Given the description of an element on the screen output the (x, y) to click on. 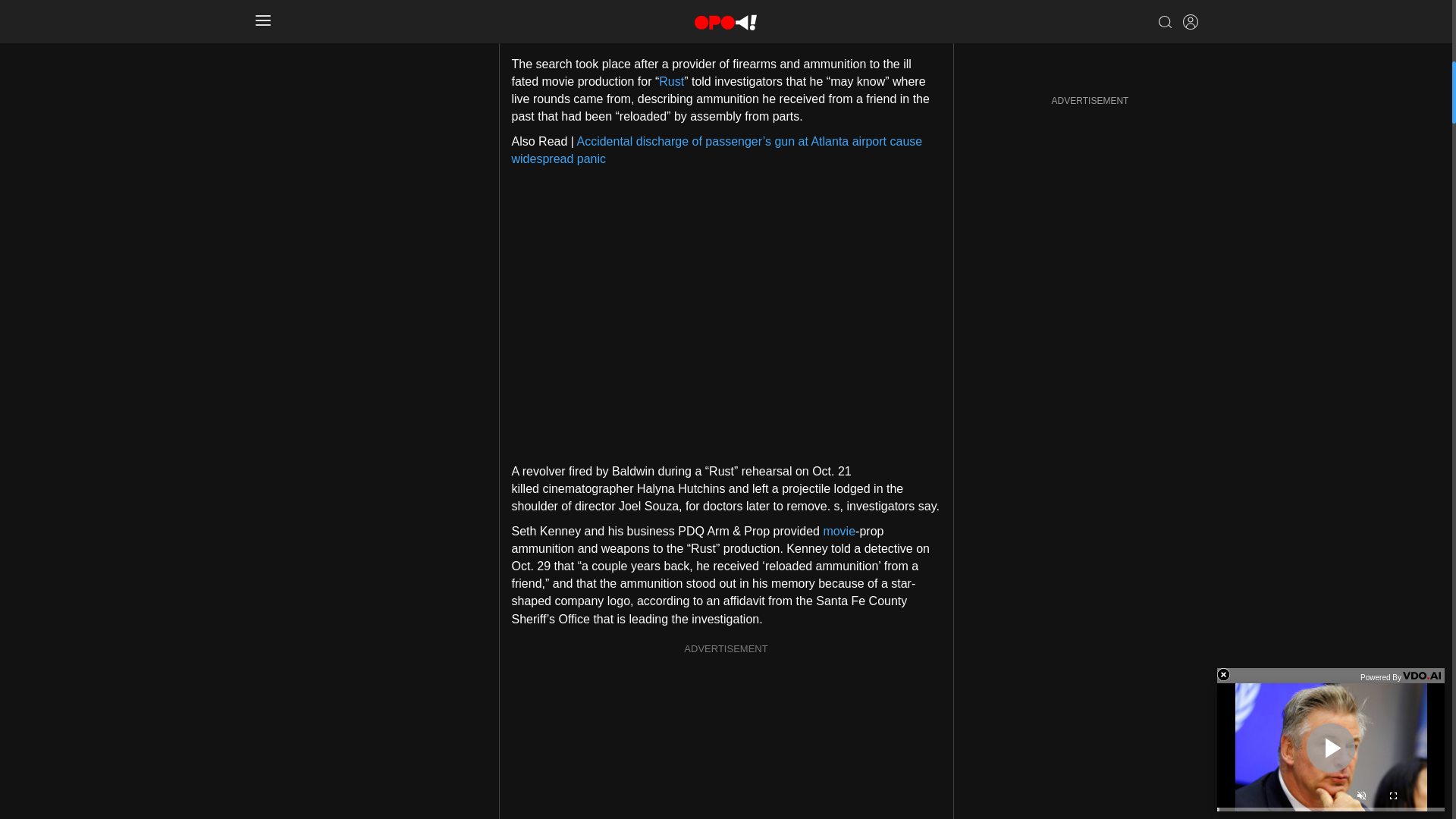
3rd party ad content (726, 15)
